Given the description of an element on the screen output the (x, y) to click on. 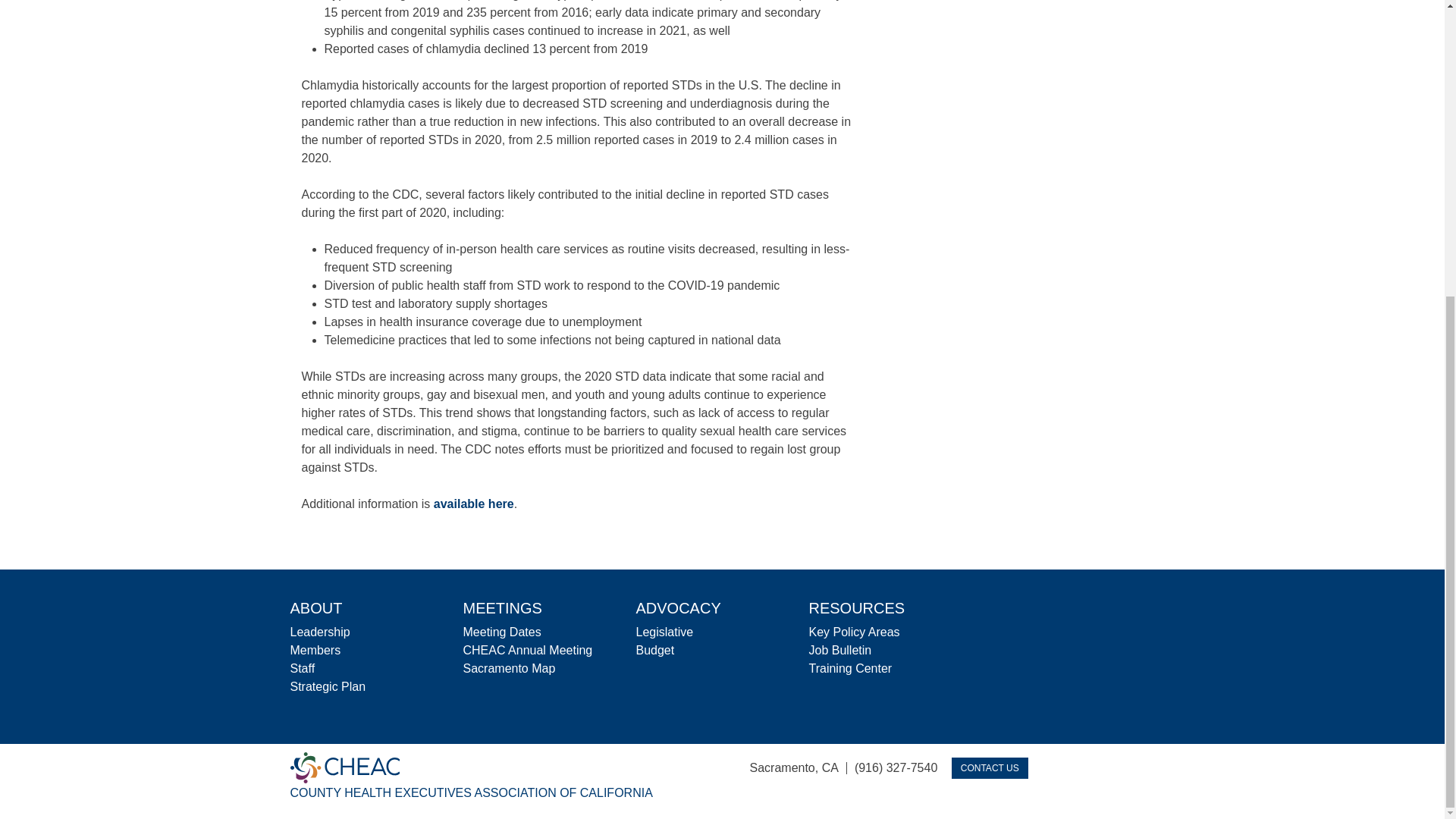
available here (473, 503)
ABOUT (315, 608)
Leadership (319, 631)
